Given the description of an element on the screen output the (x, y) to click on. 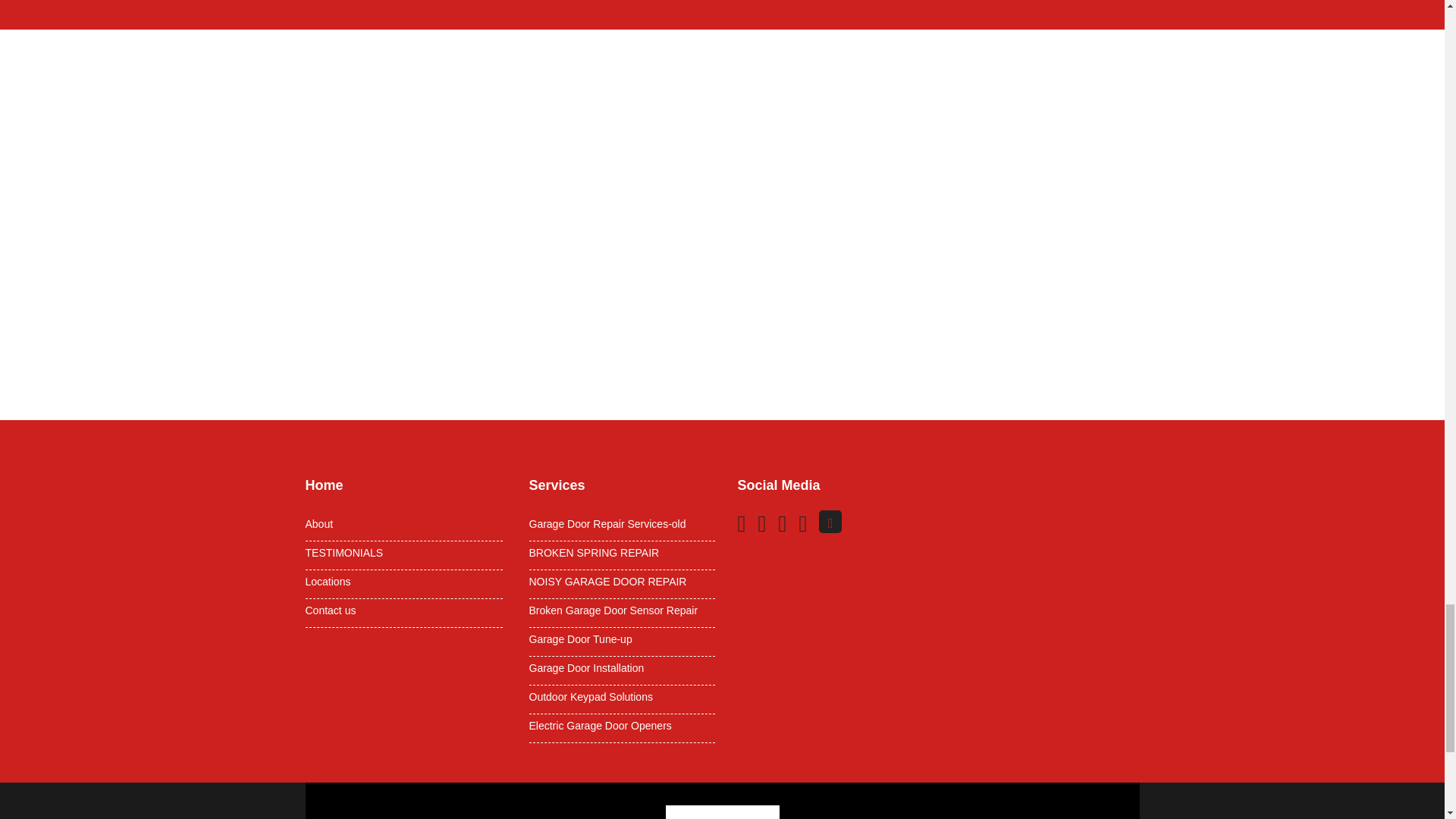
TESTIMONIALS (403, 552)
Locations (403, 581)
About (403, 523)
